Given the description of an element on the screen output the (x, y) to click on. 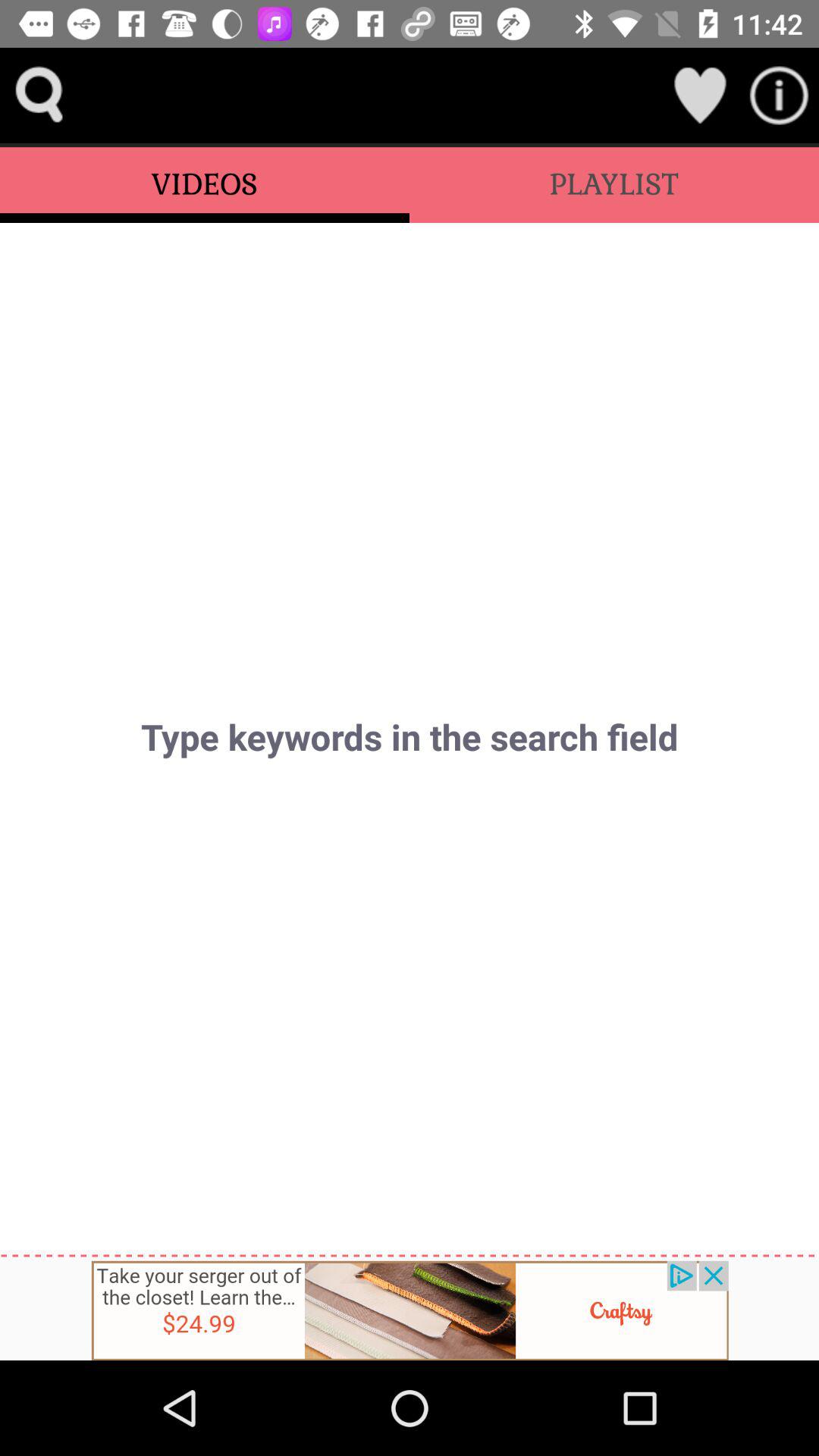
information (779, 95)
